Given the description of an element on the screen output the (x, y) to click on. 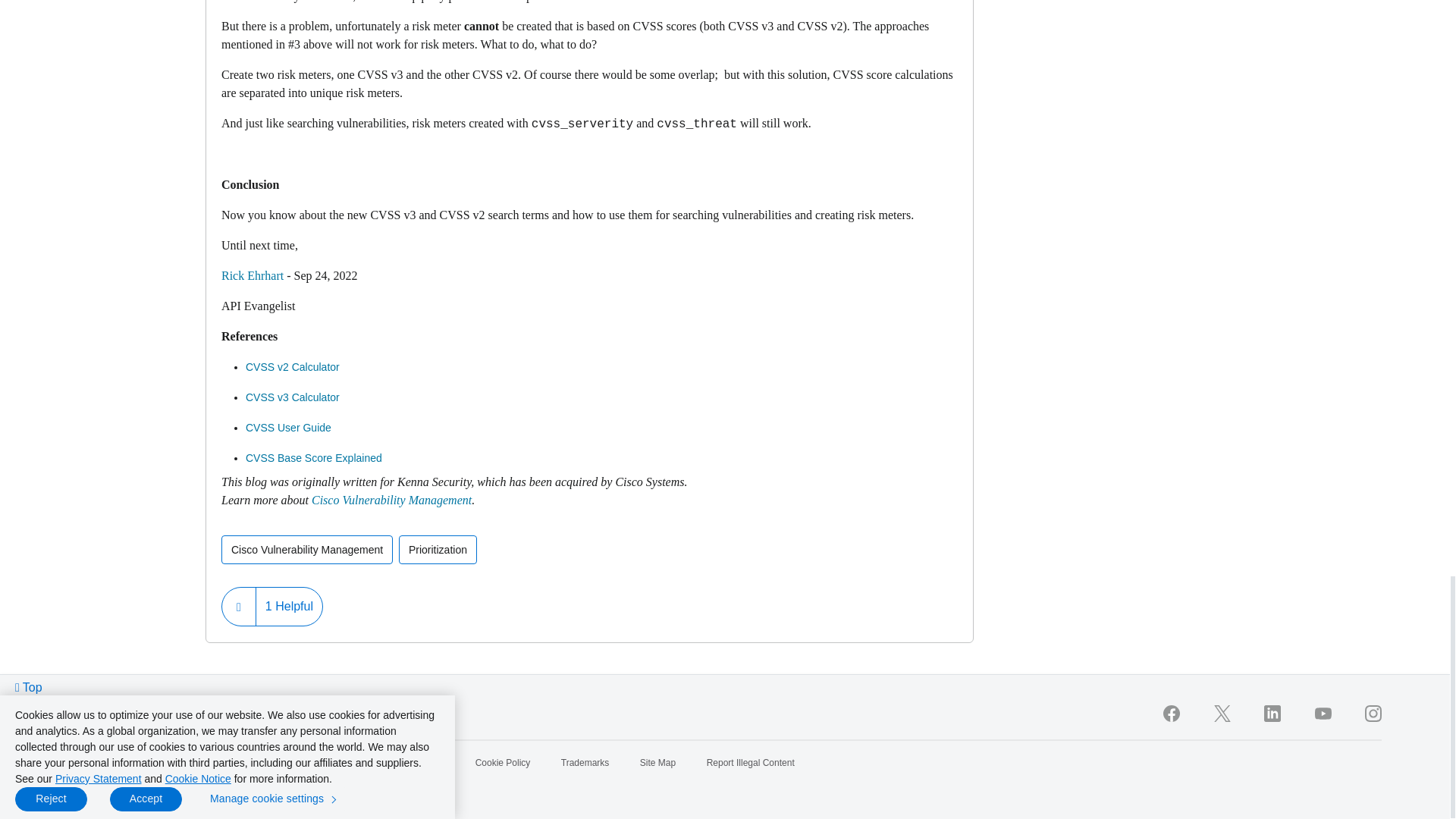
Top (29, 686)
Top (29, 686)
